Given the description of an element on the screen output the (x, y) to click on. 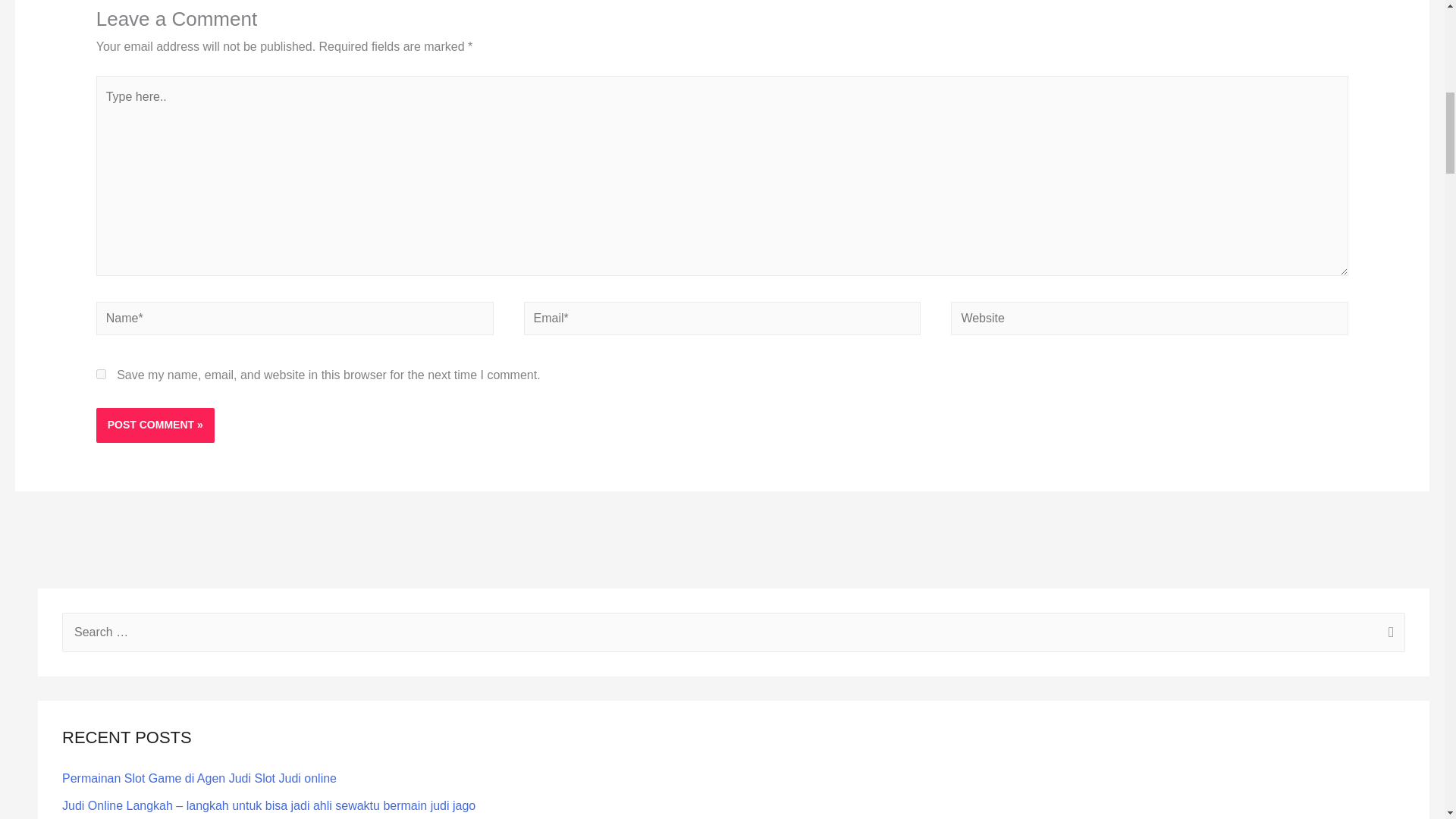
yes (101, 374)
Permainan Slot Game di Agen Judi Slot Judi online (199, 778)
